Given the description of an element on the screen output the (x, y) to click on. 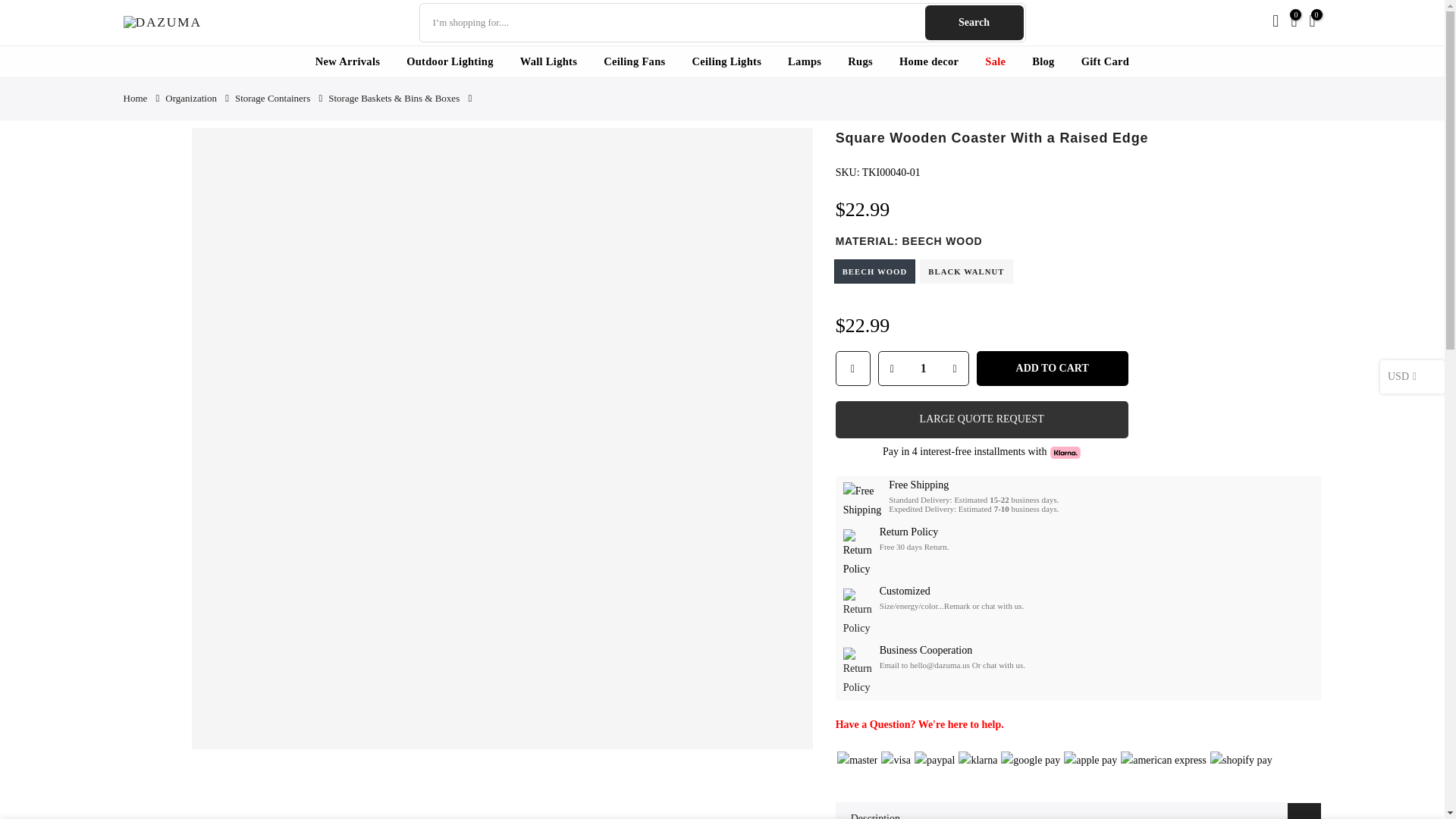
Have a Question? We're here to help. (919, 724)
New Arrivals (347, 60)
Description (1078, 810)
Ceiling Lights (726, 60)
LARGE QUOTE REQUEST (981, 419)
Ceiling Fans (634, 60)
Rugs (860, 60)
Blog (1043, 60)
Search (973, 22)
Lamps (804, 60)
